Given the description of an element on the screen output the (x, y) to click on. 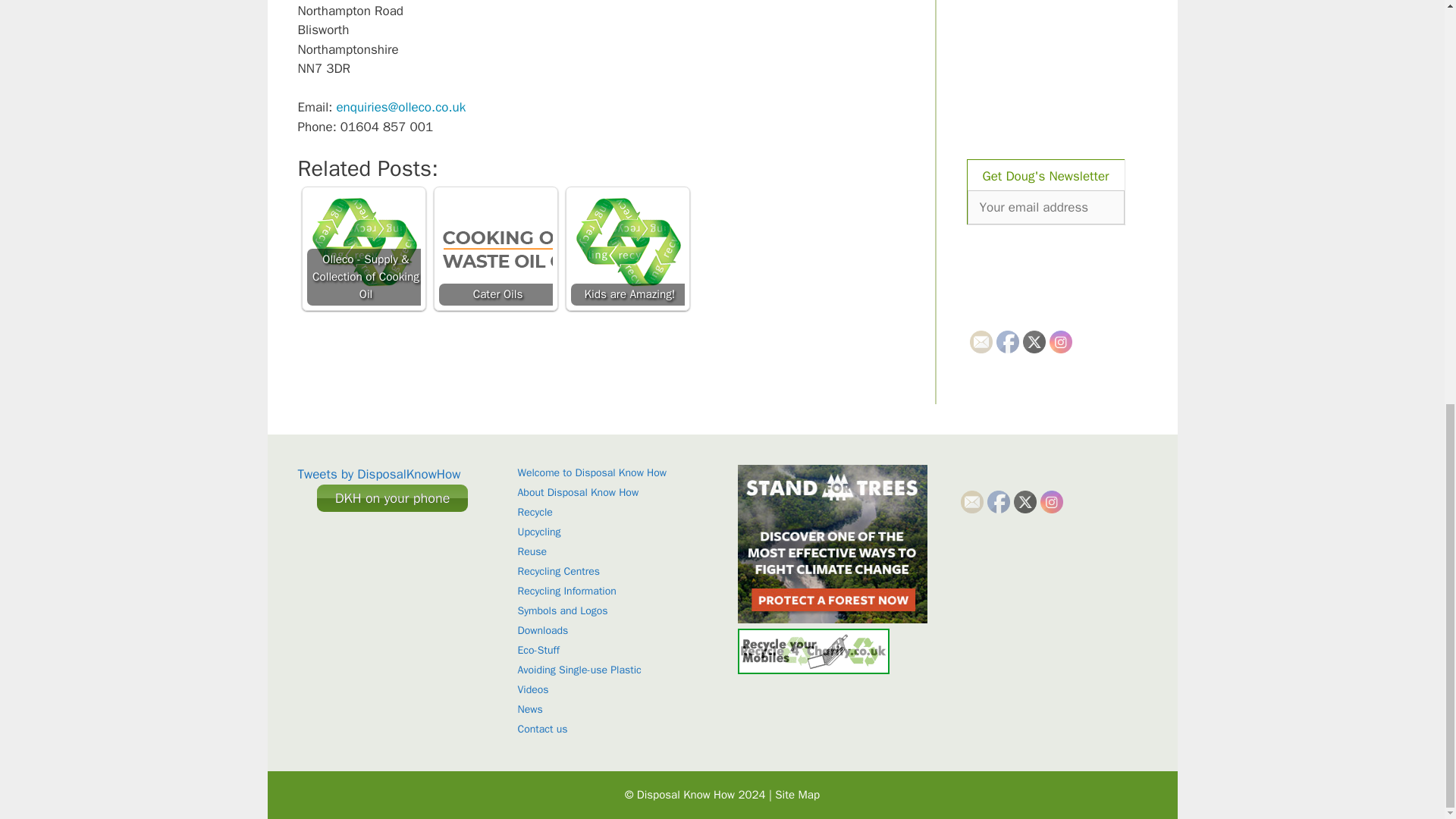
Follow by Email (980, 341)
About Disposal Know How (577, 492)
Kids are Amazing! (627, 248)
Tweets by DisposalKnowHow (378, 474)
Welcome to Disposal Know How (591, 472)
Cater Oils (494, 248)
Advertisement (1061, 28)
Get Doug's Newsletter (1046, 174)
Cater Oils (494, 248)
Get Doug's Newsletter (1046, 174)
